Given the description of an element on the screen output the (x, y) to click on. 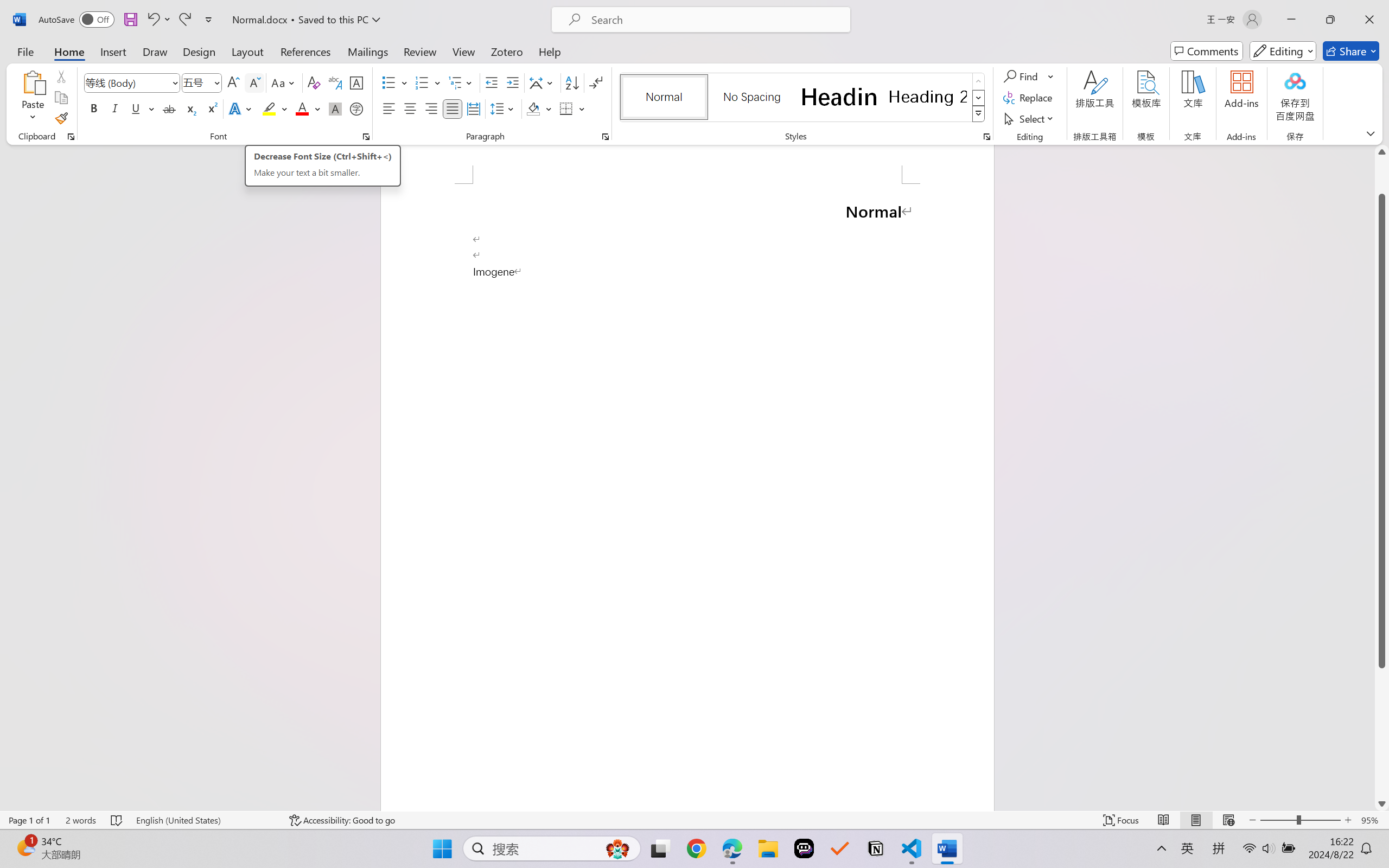
Distributed (473, 108)
Font Color (308, 108)
Select (1030, 118)
Phonetic Guide... (334, 82)
Paragraph... (605, 136)
Align Right (431, 108)
Asian Layout (542, 82)
